Given the description of an element on the screen output the (x, y) to click on. 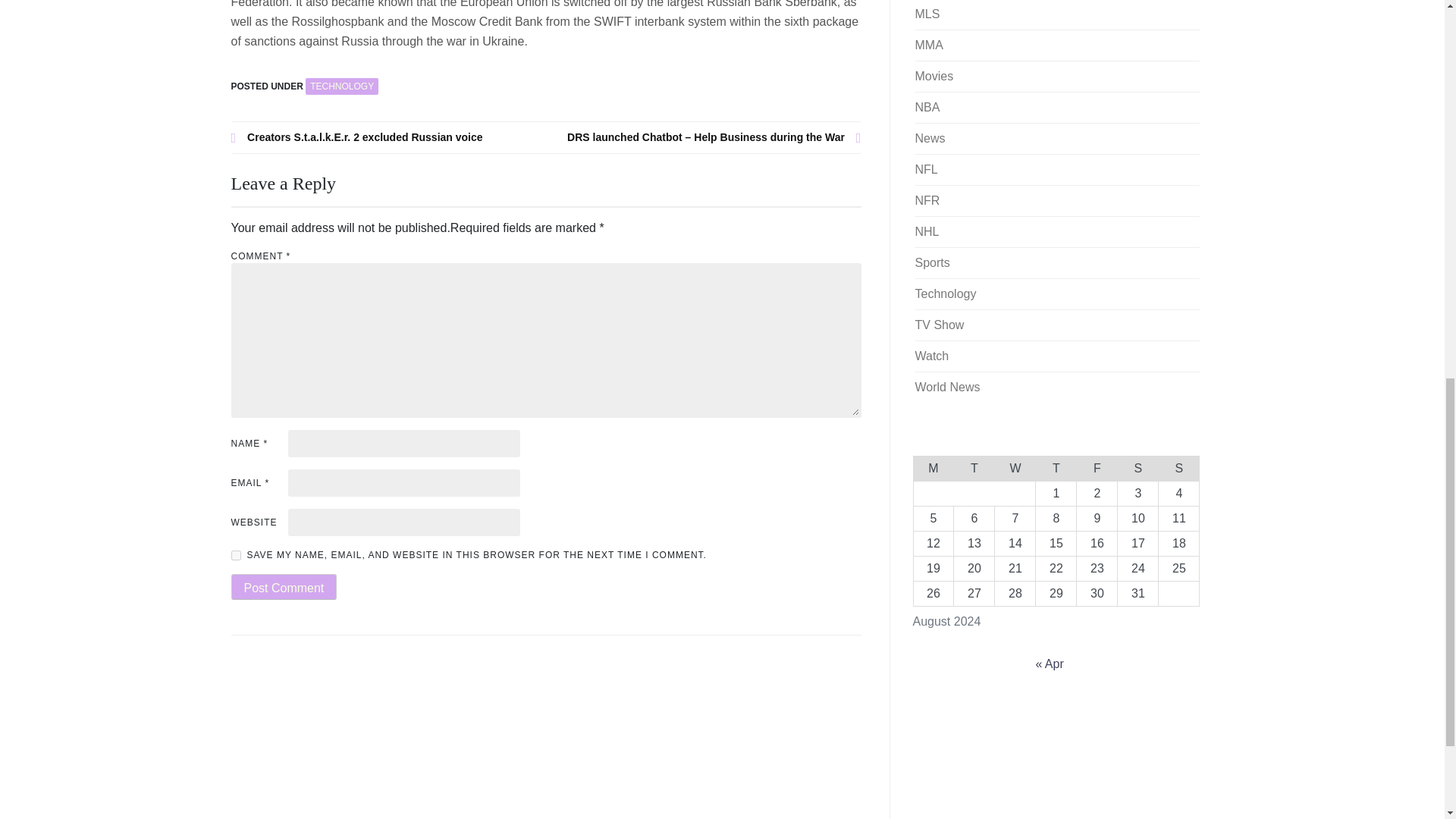
TECHNOLOGY (341, 86)
Sunday (1178, 467)
Friday (1097, 467)
Saturday (1138, 467)
Tuesday (973, 467)
yes (235, 555)
Post Comment (283, 586)
Wednesday (1014, 467)
Creators S.t.a.l.k.E.r. 2 excluded Russian voice (388, 137)
Monday (932, 467)
